Given the description of an element on the screen output the (x, y) to click on. 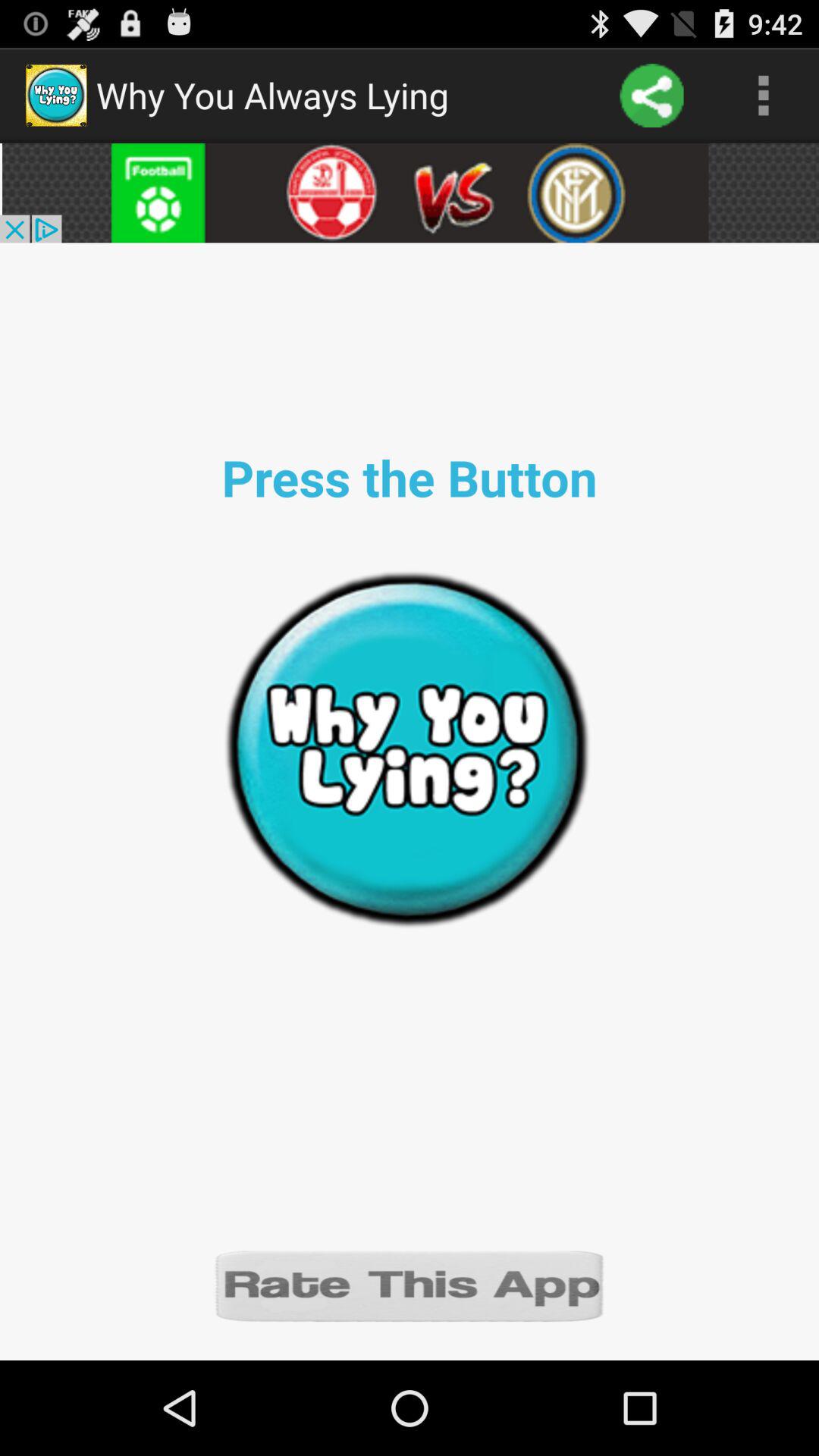
advertisement (409, 192)
